Given the description of an element on the screen output the (x, y) to click on. 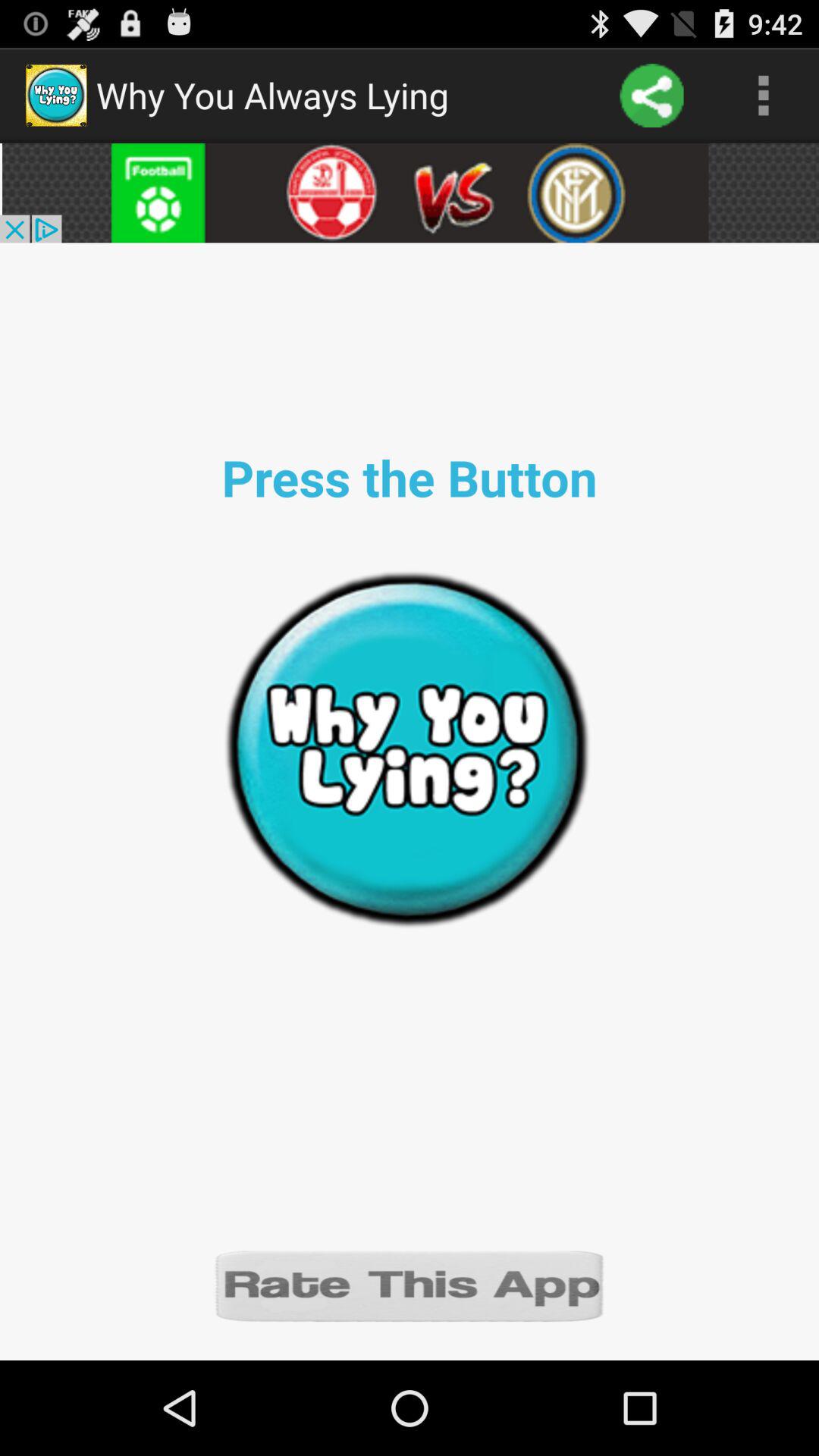
advertisement (409, 192)
